Given the description of an element on the screen output the (x, y) to click on. 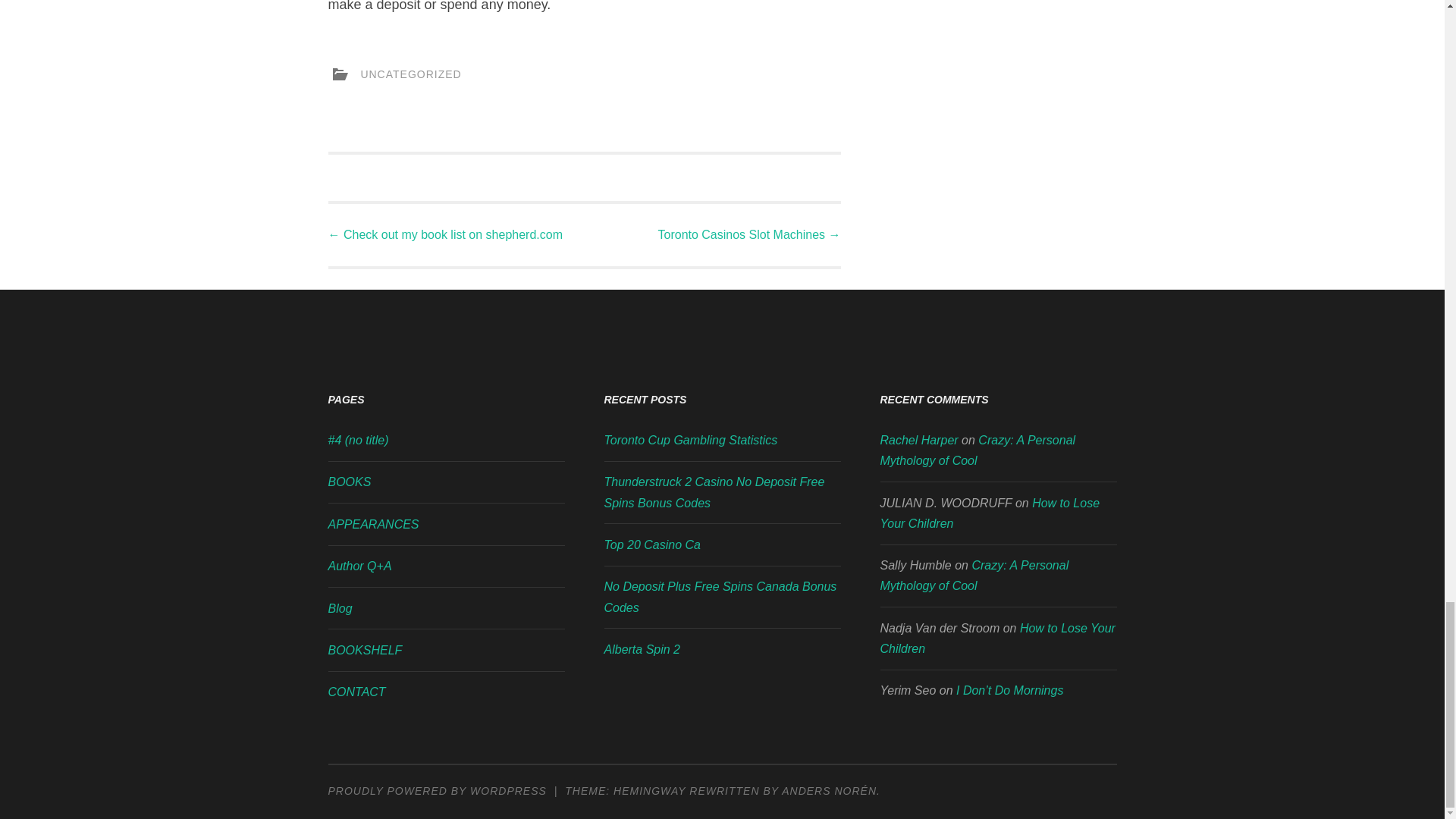
Alberta Spin 2 (641, 649)
CONTACT (356, 691)
No Deposit Plus Free Spins Canada Bonus Codes (719, 596)
BOOKS (349, 481)
BOOKSHELF (364, 649)
APPEARANCES (373, 523)
Thunderstruck 2 Casino No Deposit Free Spins Bonus Codes (714, 491)
Blog (339, 608)
Toronto Cup Gambling Statistics (690, 440)
Top 20 Casino Ca (652, 544)
